Given the description of an element on the screen output the (x, y) to click on. 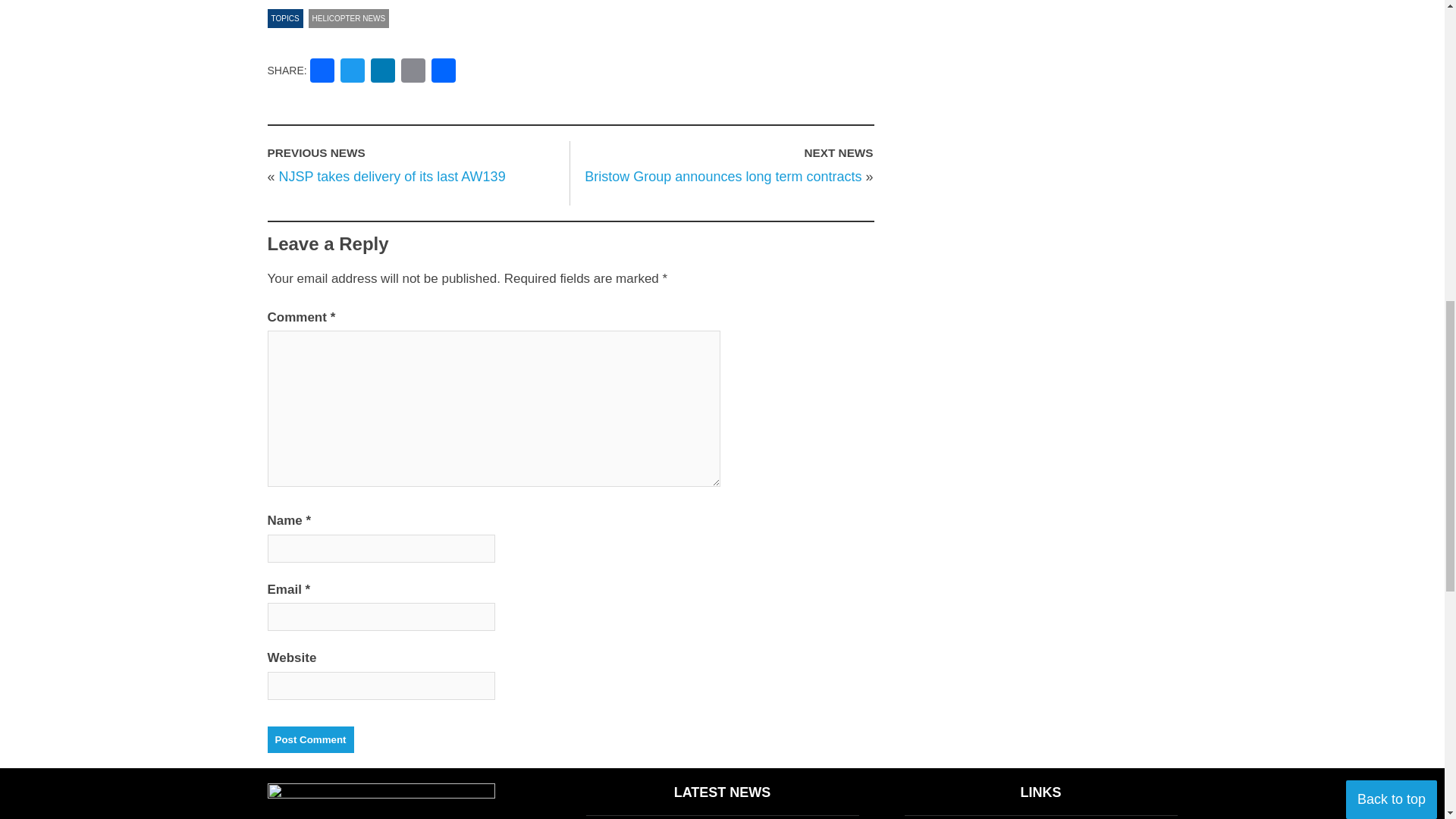
Facebook (322, 72)
Facebook (322, 72)
HELICOPTER NEWS (349, 18)
LinkedIn (382, 72)
Twitter (352, 72)
Twitter (352, 72)
Email (412, 72)
Post Comment (309, 739)
Email (412, 72)
LinkedIn (382, 72)
